Given the description of an element on the screen output the (x, y) to click on. 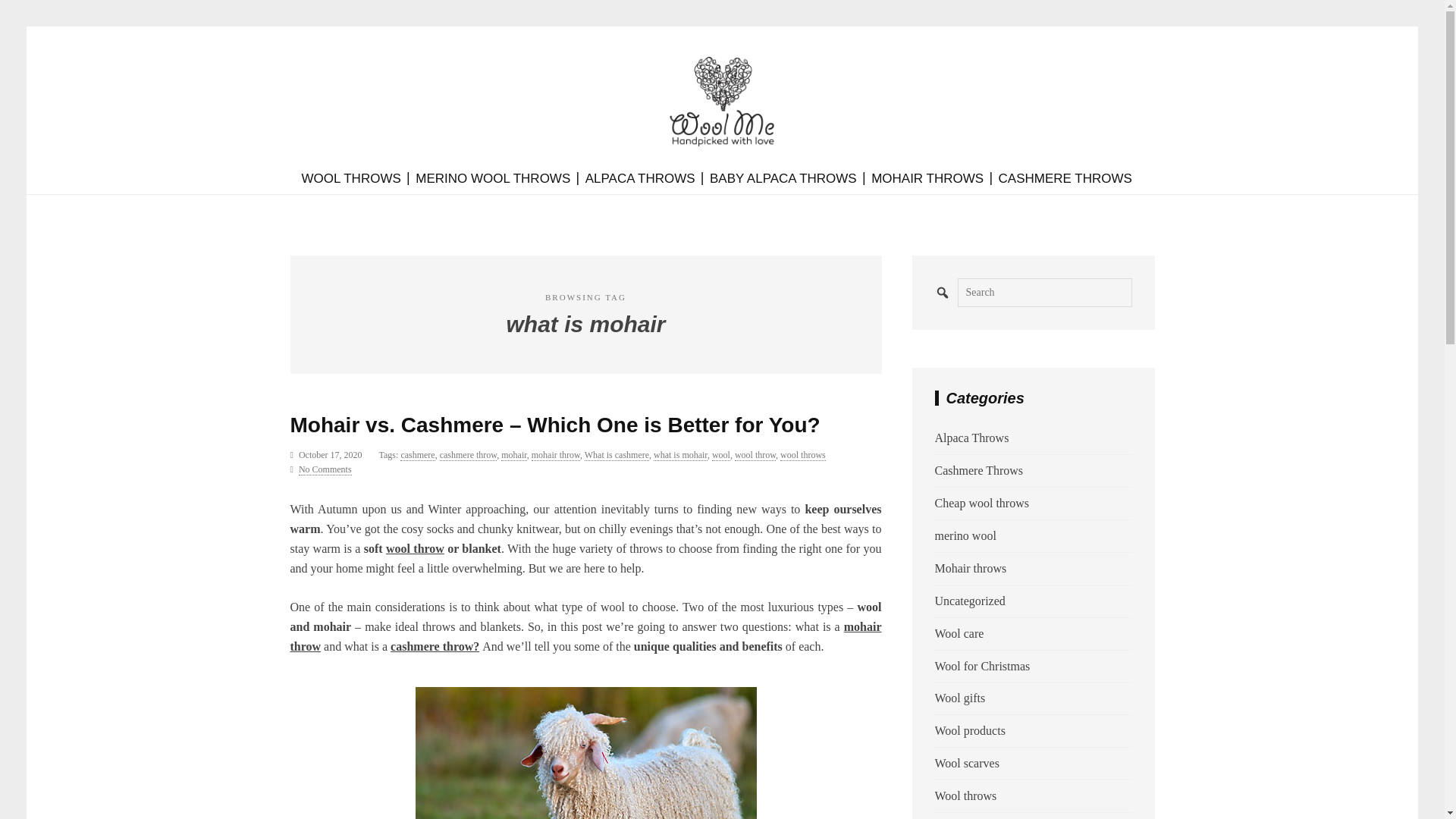
BABY ALPACA THROWS (783, 178)
mohair throw (555, 455)
Mohair throws (970, 567)
MOHAIR THROWS (927, 178)
cashmere (416, 455)
Uncategorized (969, 600)
merino wool (964, 535)
wool (720, 455)
MERINO WOOL THROWS (492, 178)
mohair throw (584, 635)
Wool products (969, 730)
What is cashmere (617, 455)
ALPACA THROWS (640, 178)
Cheap wool throws (980, 502)
wool throw (755, 455)
